Given the description of an element on the screen output the (x, y) to click on. 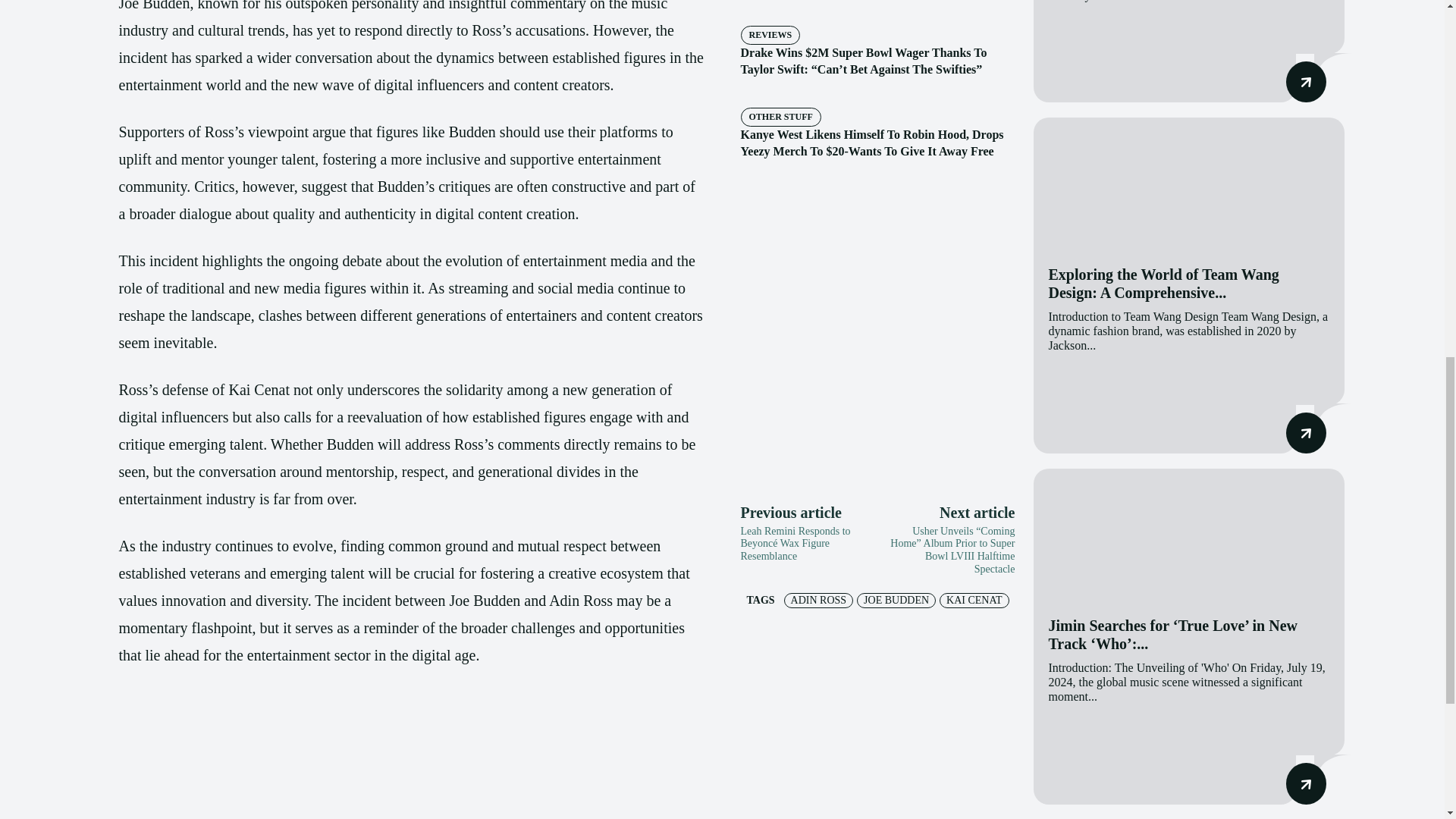
ADIN ROSS (818, 600)
REVIEWS (769, 34)
OTHER STUFF (780, 116)
